Given the description of an element on the screen output the (x, y) to click on. 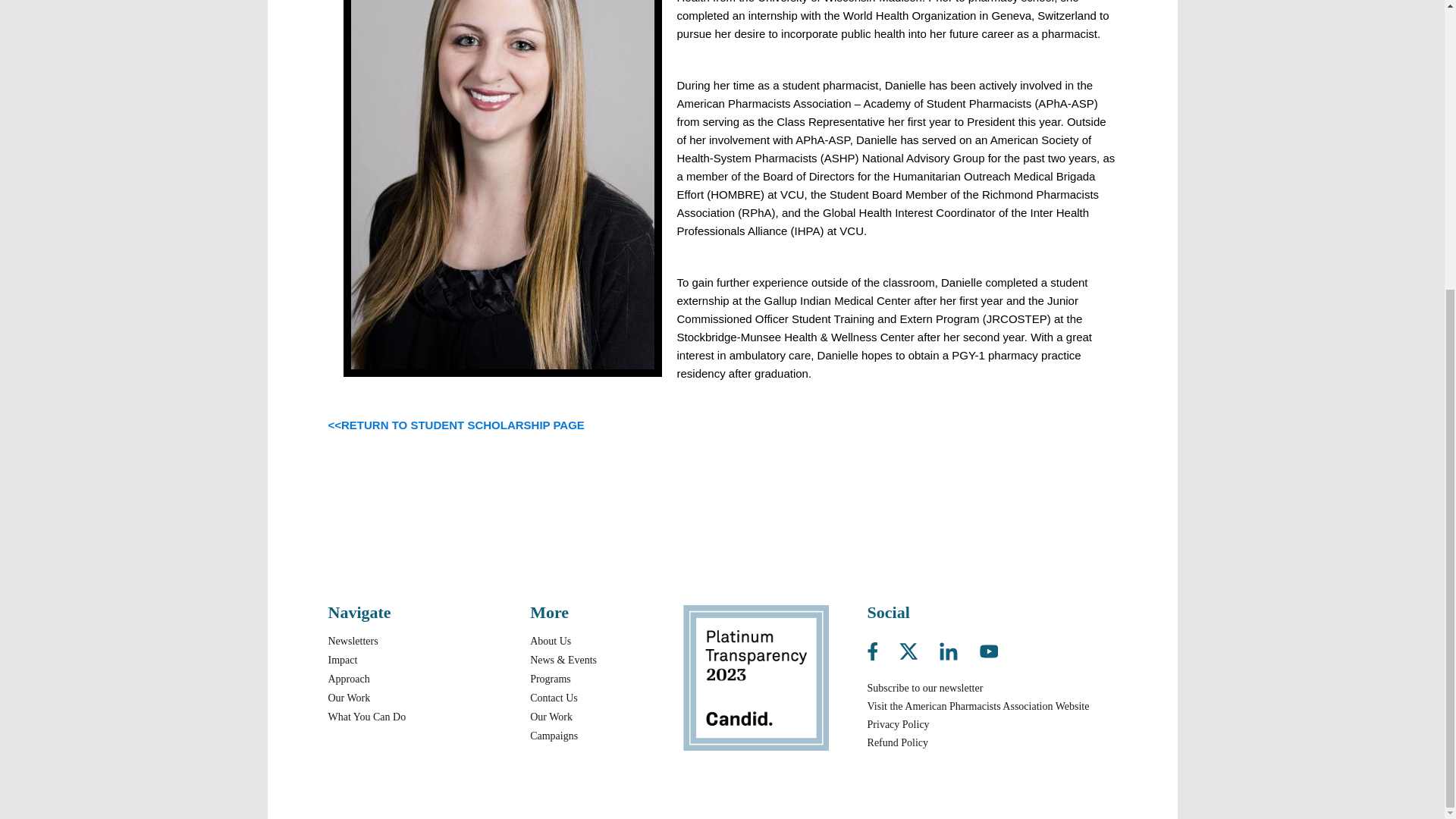
What You Can Do (366, 716)
Programs (549, 678)
Impact (341, 659)
LinkedIn (957, 647)
Approach (348, 678)
YouTube (988, 647)
Approach (348, 678)
Contact Us (553, 697)
About Us (549, 641)
What You Can Do (366, 716)
Our Work (348, 697)
Facebook (881, 647)
Newsletters (352, 641)
Newsletters (352, 641)
Twitter (917, 647)
